Given the description of an element on the screen output the (x, y) to click on. 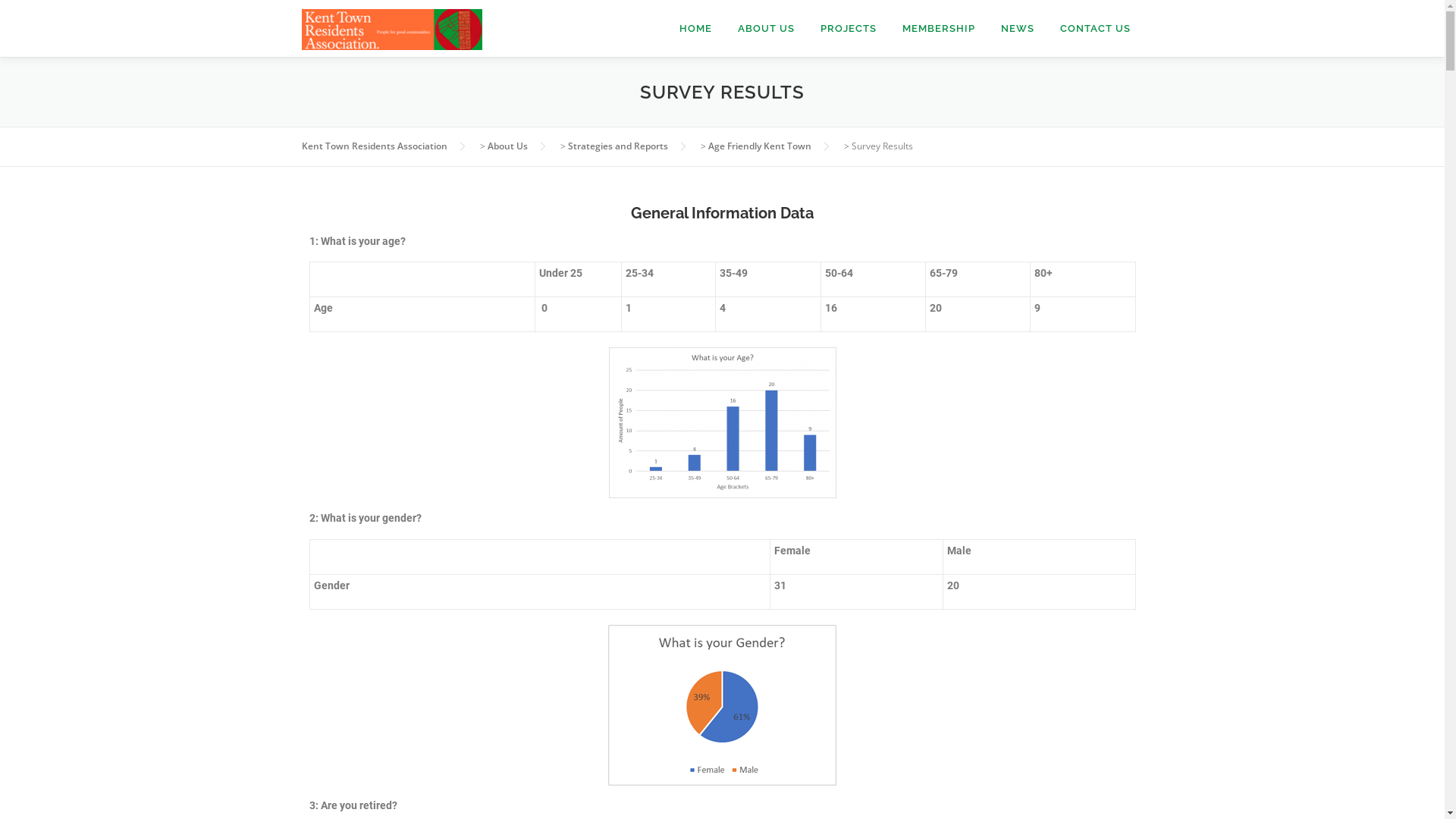
HOME Element type: text (694, 28)
Kent Town Residents Association Element type: text (374, 145)
PROJECTS Element type: text (847, 28)
Age Friendly Kent Town Element type: text (759, 145)
ABOUT US Element type: text (765, 28)
CONTACT US Element type: text (1094, 28)
Strategies and Reports Element type: text (617, 145)
NEWS Element type: text (1016, 28)
MEMBERSHIP Element type: text (937, 28)
About Us Element type: text (506, 145)
